Given the description of an element on the screen output the (x, y) to click on. 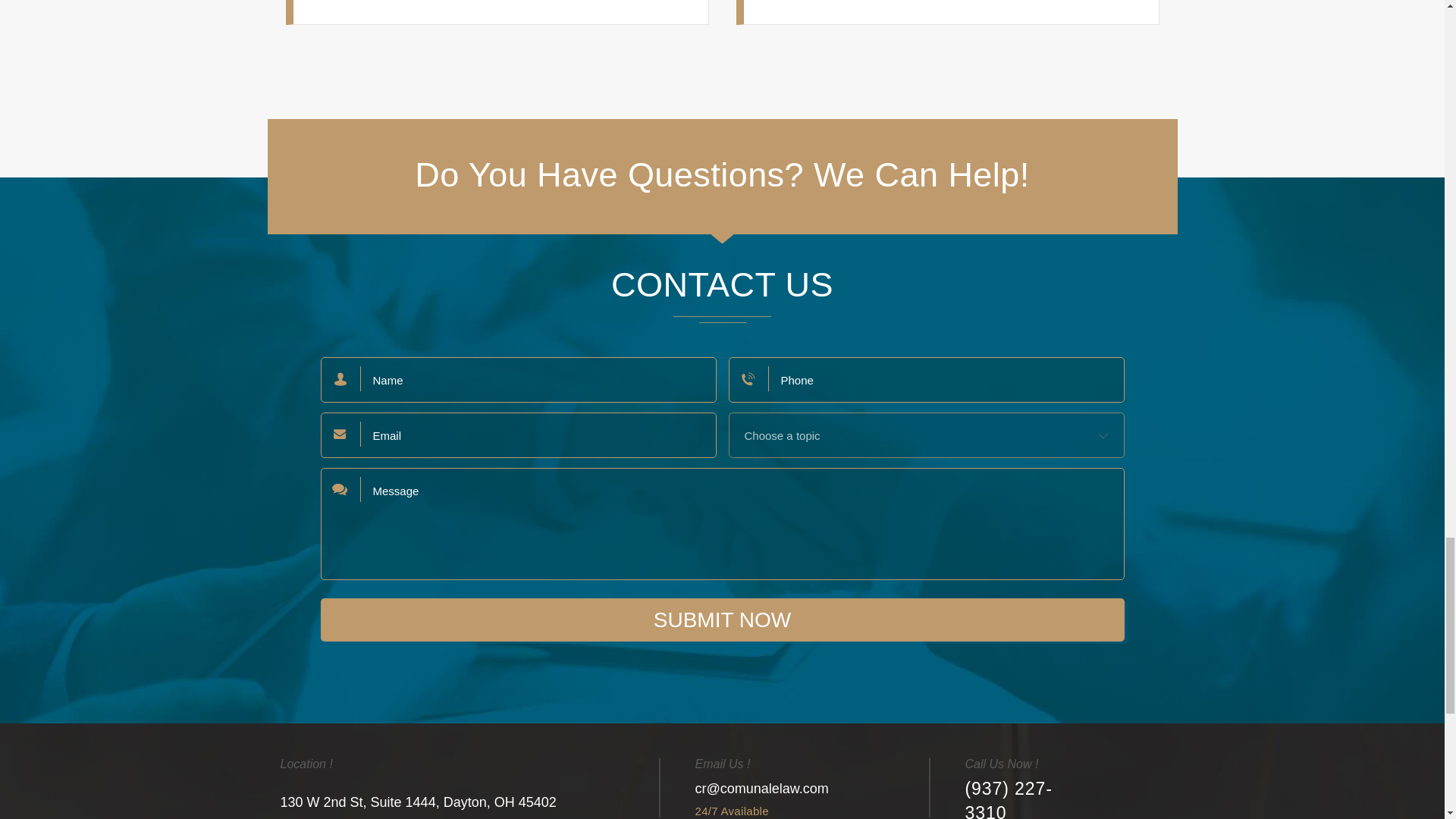
Submit Now (722, 619)
